Given the description of an element on the screen output the (x, y) to click on. 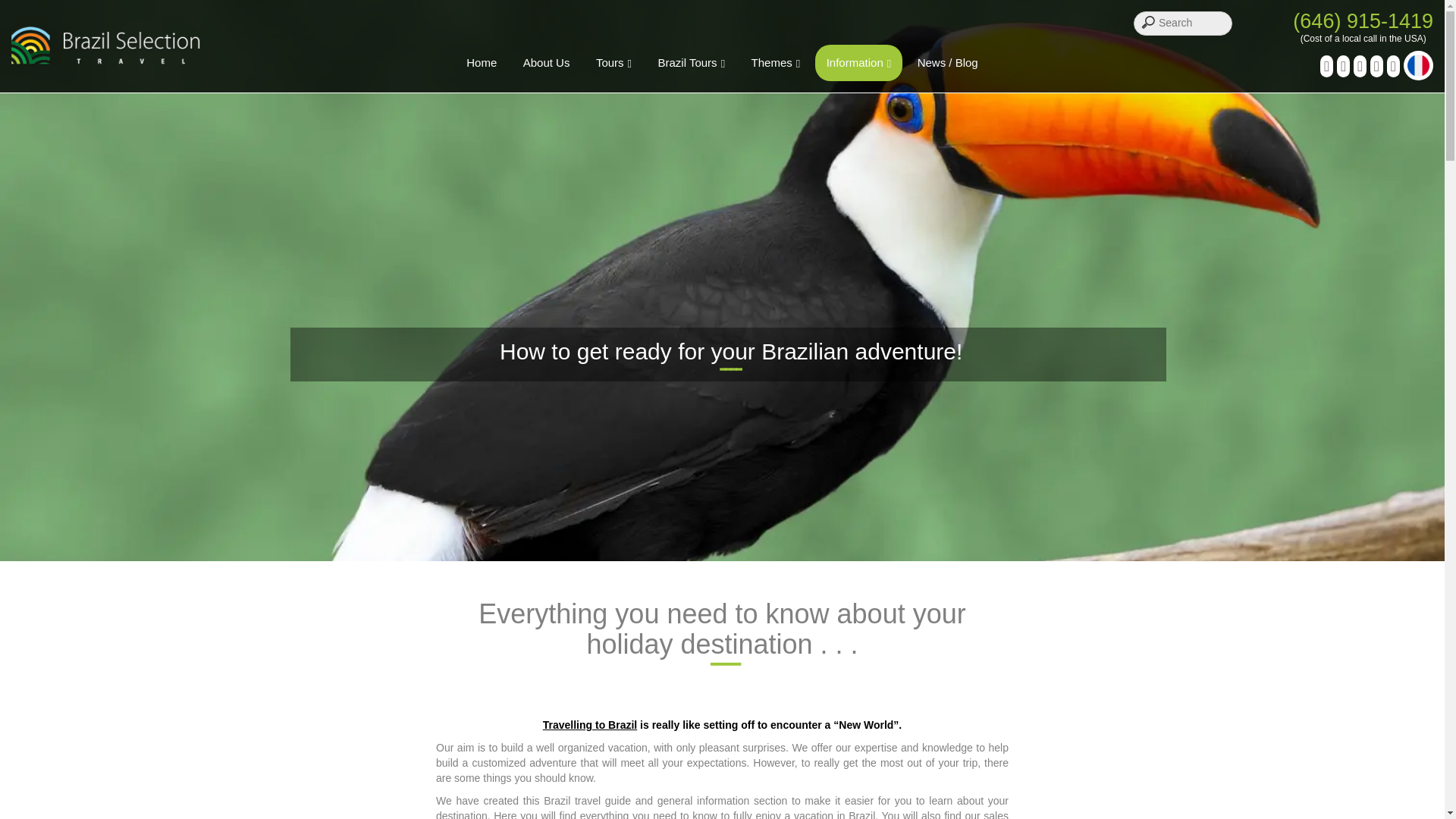
Site FR (1417, 65)
Home (481, 63)
